Given the description of an element on the screen output the (x, y) to click on. 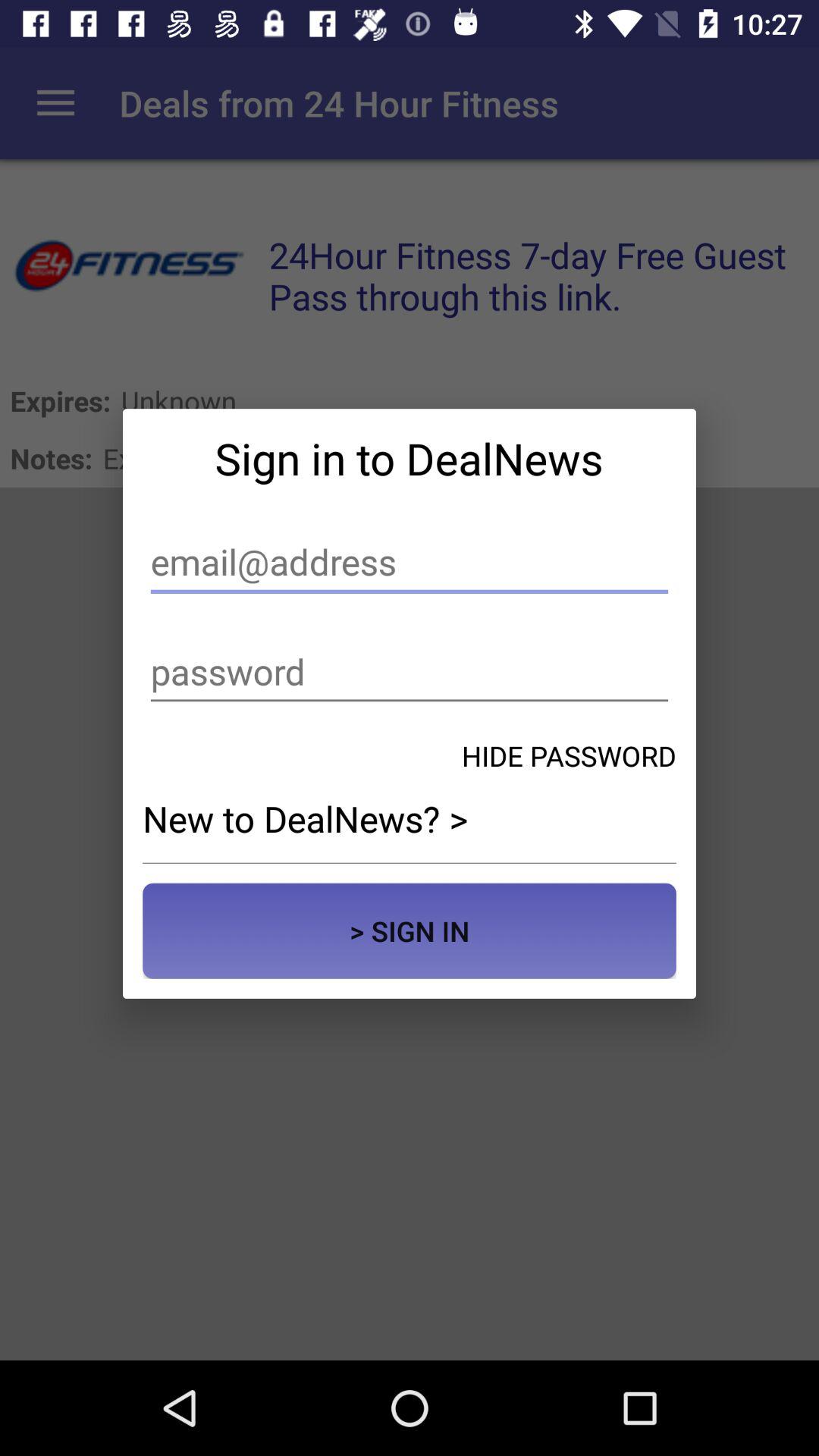
type in login password (409, 672)
